Given the description of an element on the screen output the (x, y) to click on. 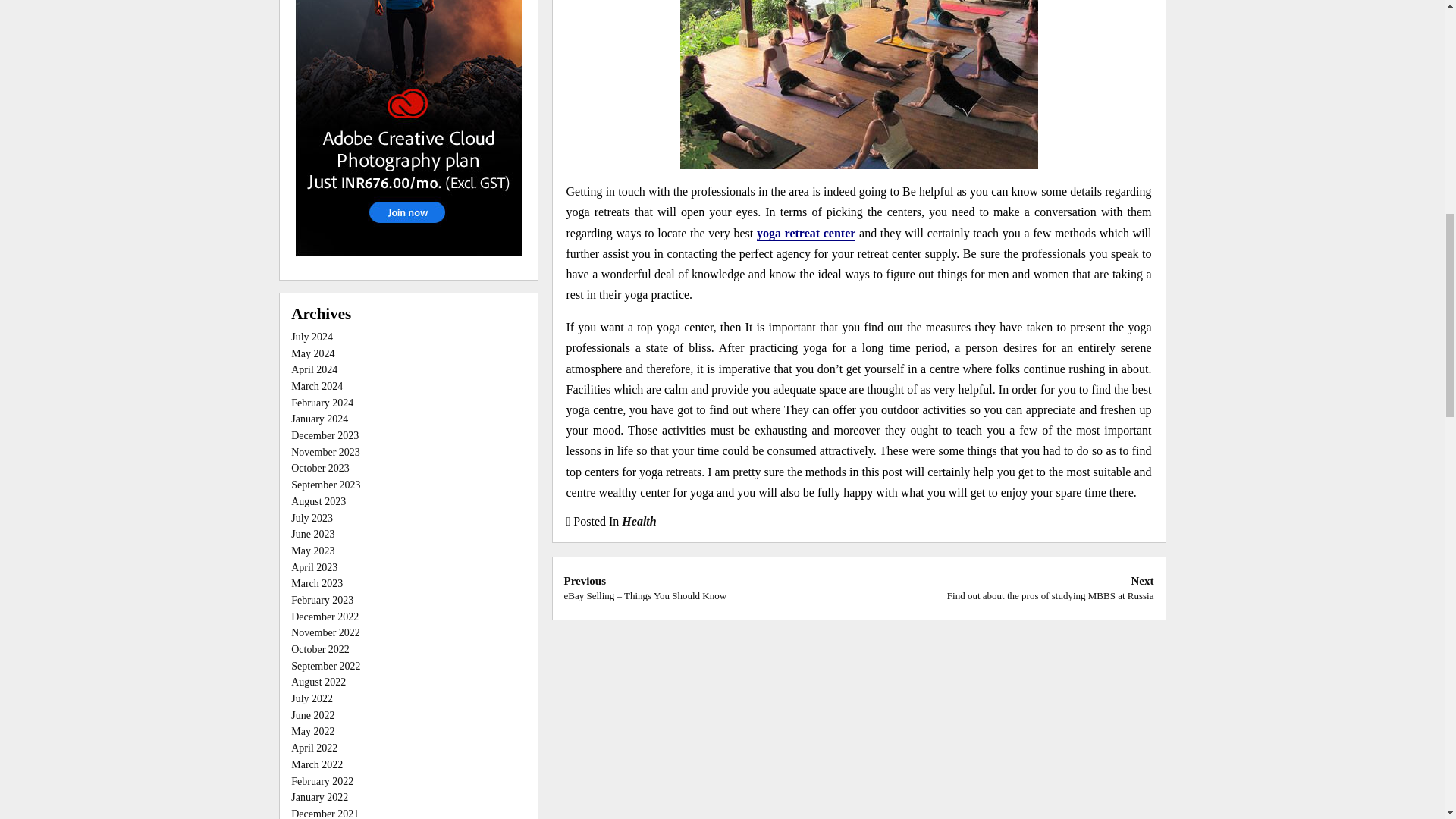
September 2023 (325, 484)
December 2023 (324, 435)
February 2023 (322, 600)
February 2024 (322, 402)
October 2023 (320, 468)
May 2024 (312, 353)
December 2022 (324, 616)
June 2023 (312, 533)
January 2024 (319, 419)
April 2023 (314, 567)
Health (638, 521)
March 2023 (316, 583)
May 2023 (312, 550)
November 2023 (325, 451)
November 2022 (325, 632)
